Given the description of an element on the screen output the (x, y) to click on. 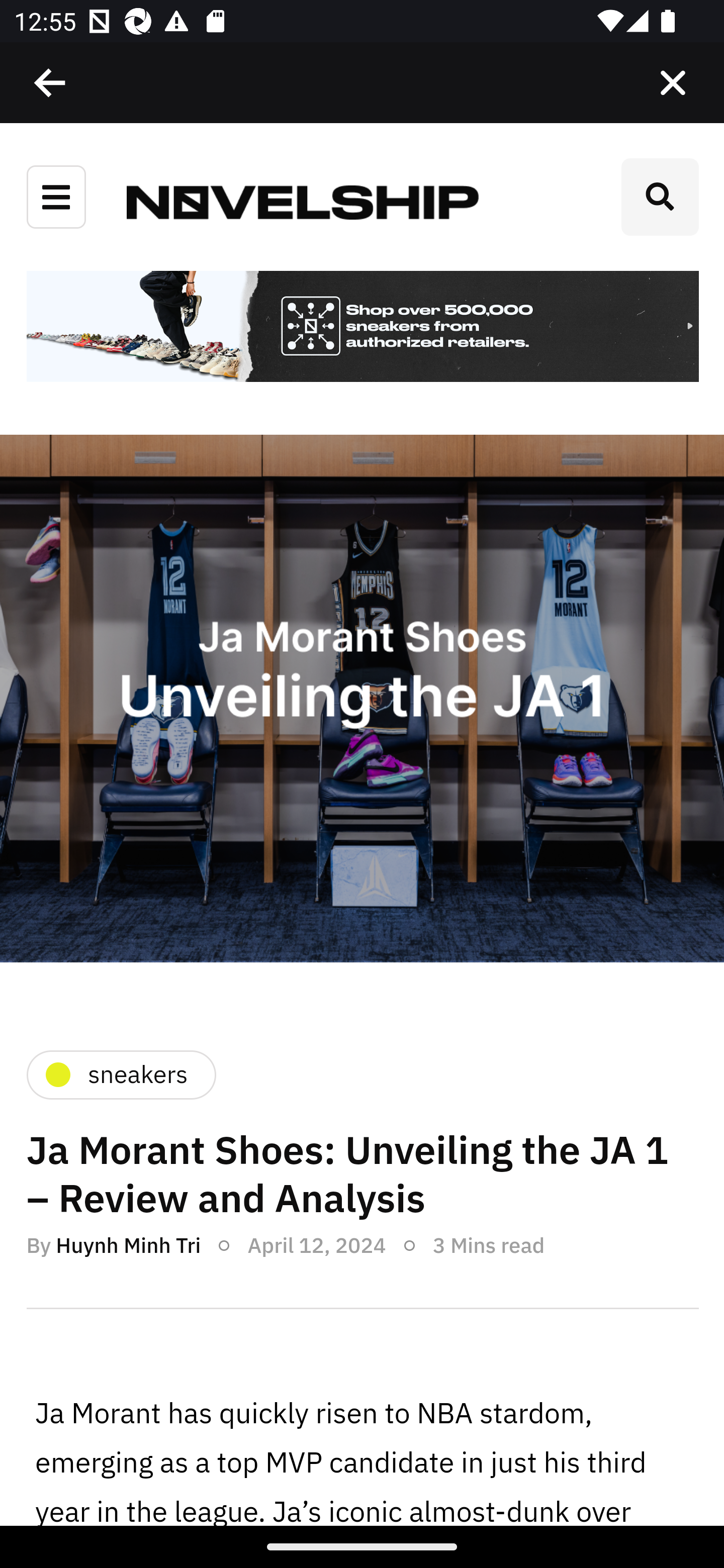
 (50, 83)
 (672, 83)
Search toggle (659, 196)
Novelship News (303, 201)
sneakers?utm_source=blog&utm_medium=banner (362, 327)
sneakers (120, 1074)
Huynh Minh Tri (127, 1244)
